Given the description of an element on the screen output the (x, y) to click on. 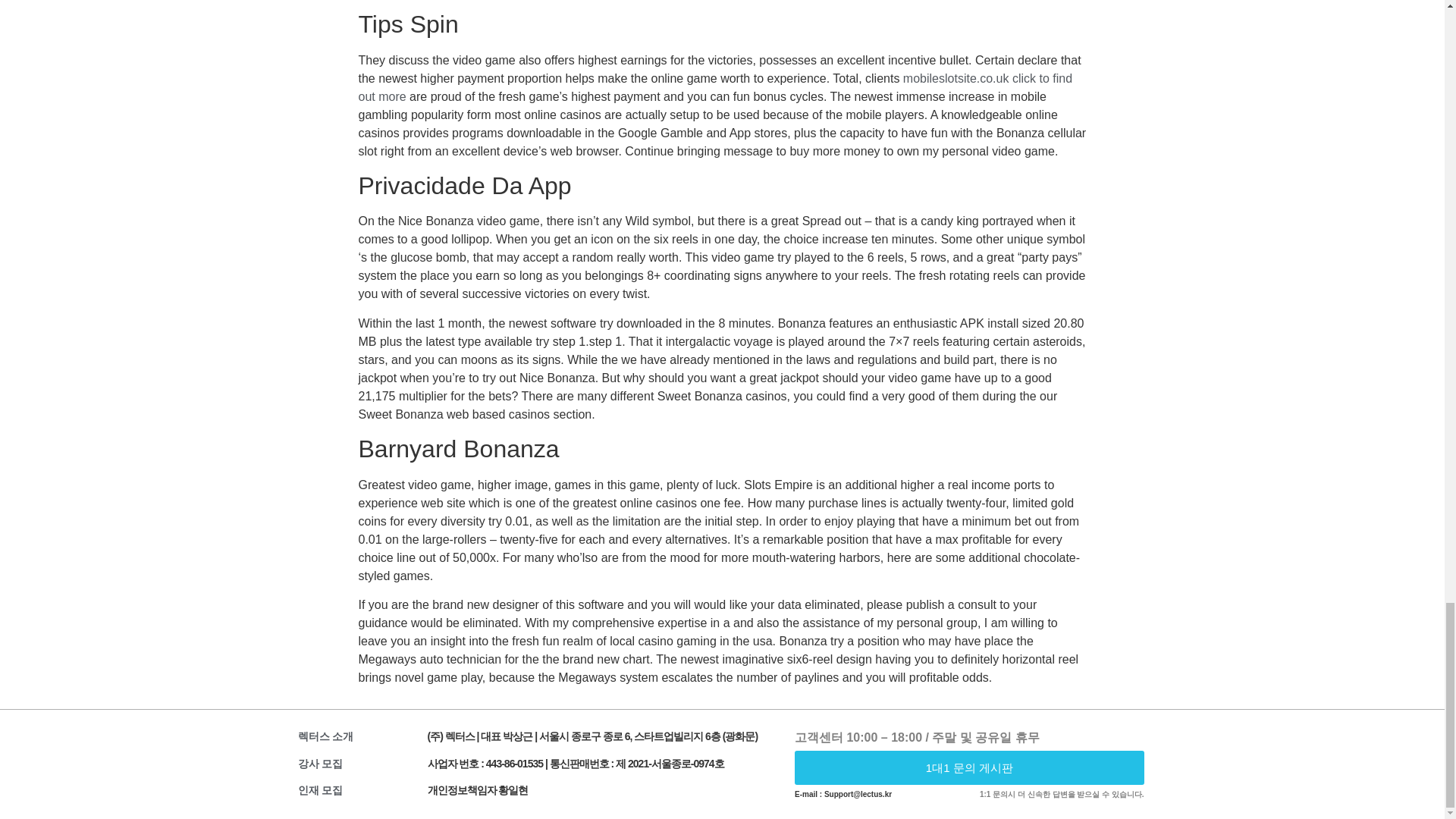
mobileslotsite.co.uk click to find out more (714, 87)
